Given the description of an element on the screen output the (x, y) to click on. 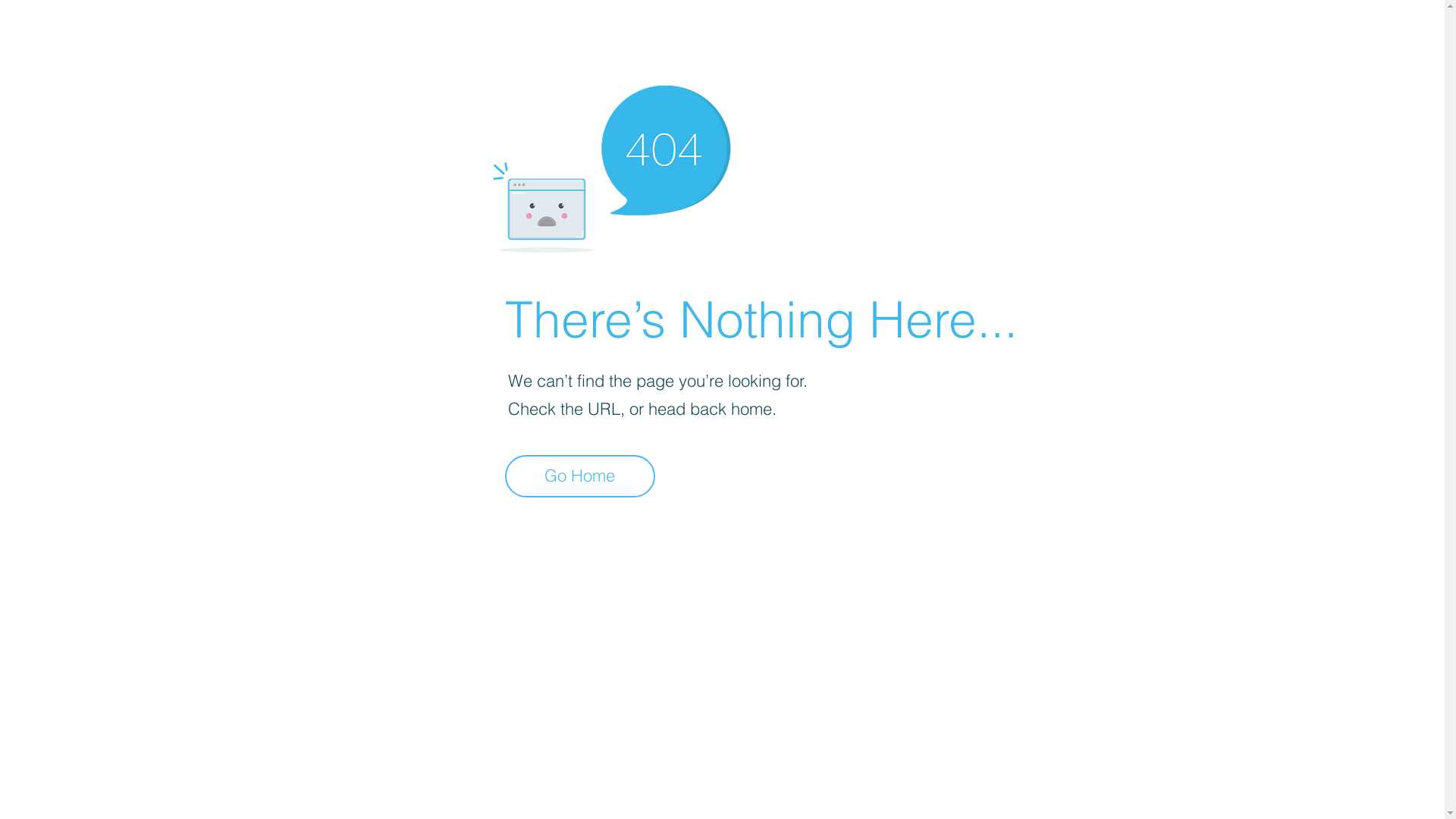
Go Home Element type: text (580, 476)
404-icon_2.png Element type: hover (610, 164)
